Given the description of an element on the screen output the (x, y) to click on. 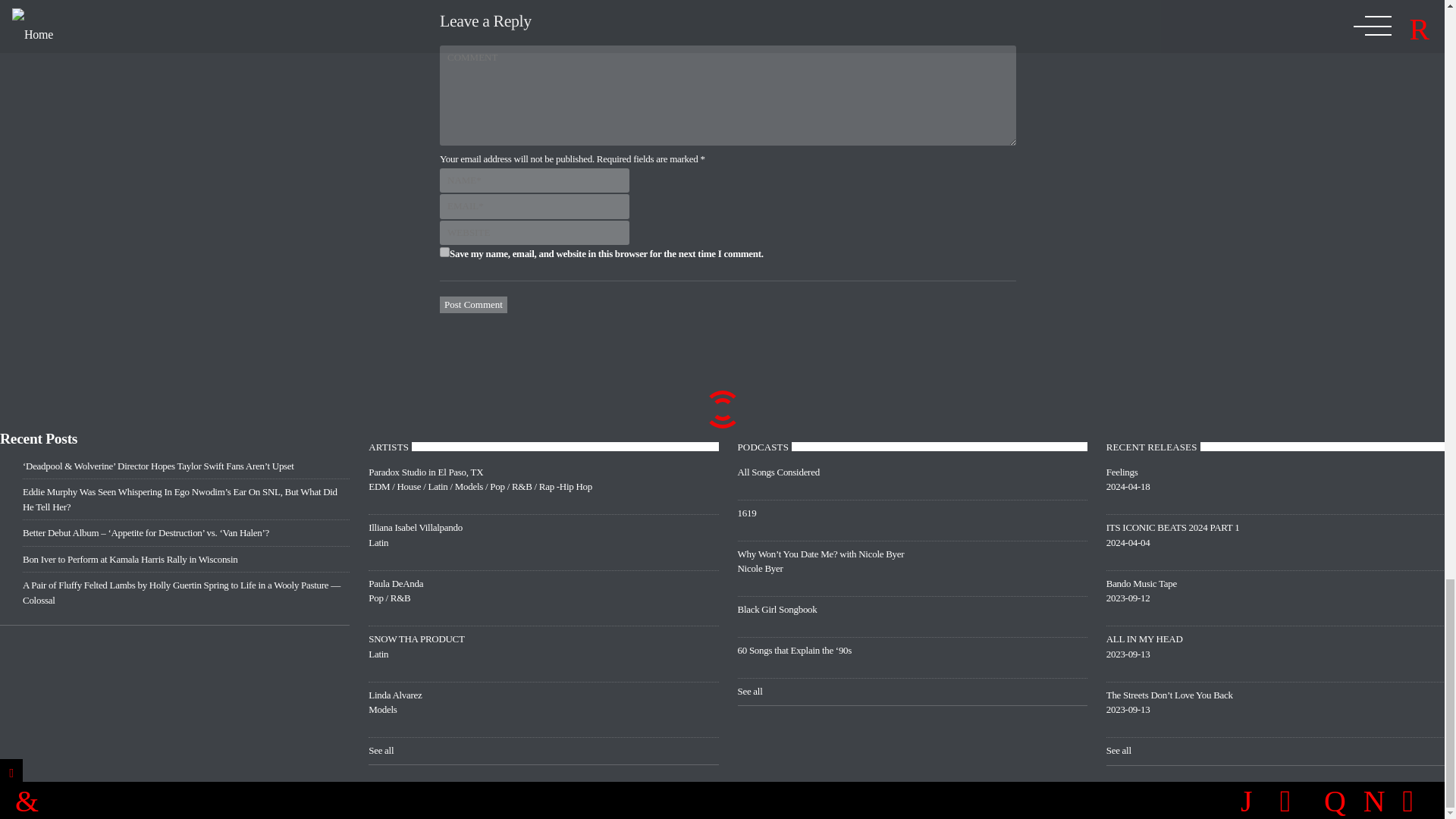
yes (444, 252)
Post Comment (542, 653)
Bon Iver to Perform at Kamala Harris Rally in Wisconsin (472, 304)
Post Comment (542, 541)
